Given the description of an element on the screen output the (x, y) to click on. 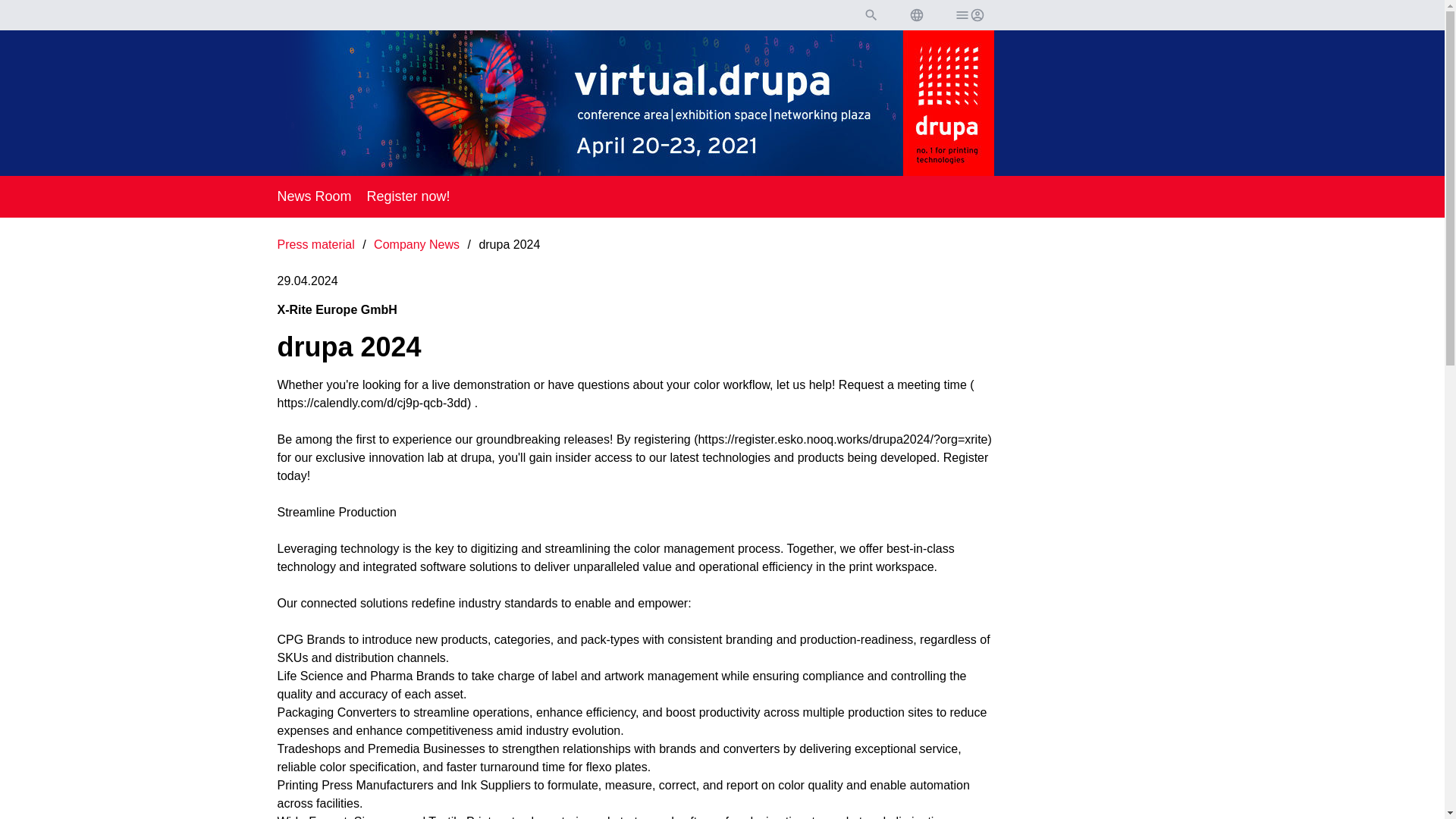
News Room (315, 196)
Company News (419, 244)
News Room (315, 196)
Press material (318, 244)
Register now! (407, 196)
Login (968, 14)
ENGLISH (915, 14)
Search (870, 14)
Register now! (407, 196)
